Given the description of an element on the screen output the (x, y) to click on. 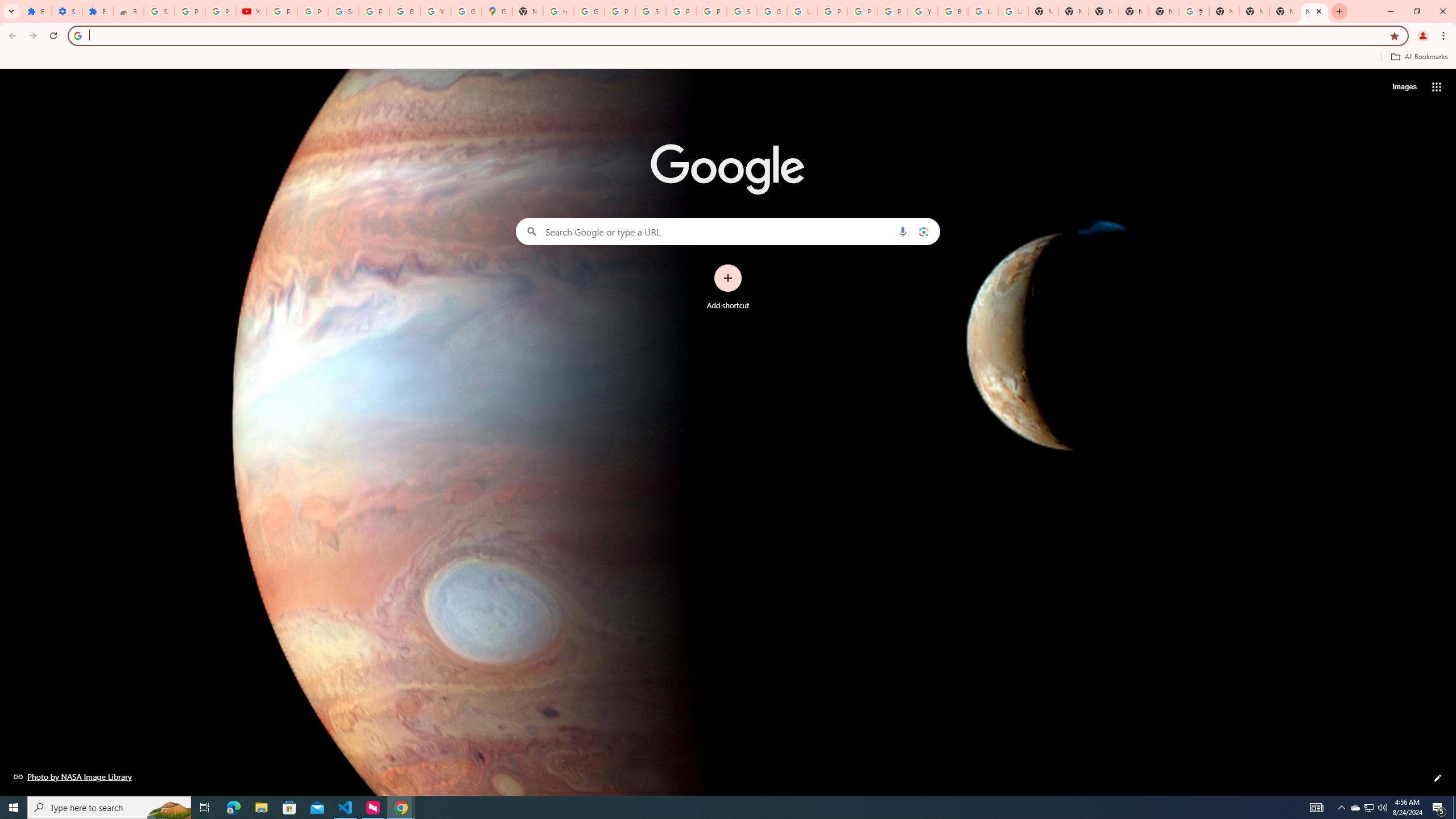
New Tab (1103, 11)
Search Google or type a URL (727, 230)
Sign in - Google Accounts (343, 11)
Extensions (97, 11)
Sign in - Google Accounts (650, 11)
New Tab (1254, 11)
New Tab (1314, 11)
Google Maps (496, 11)
